Given the description of an element on the screen output the (x, y) to click on. 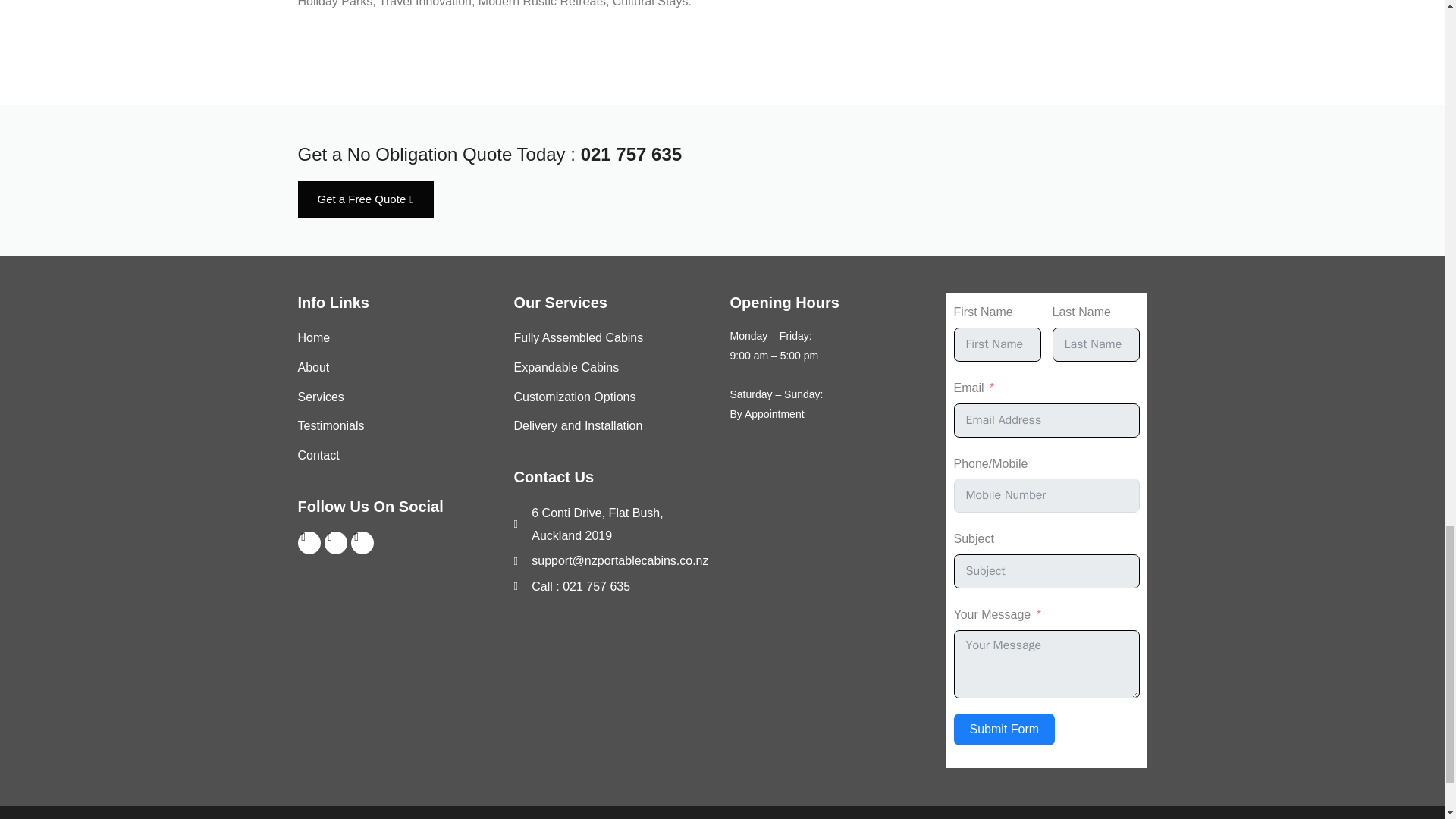
Testimonials (397, 425)
Call : 021 757 635 (613, 586)
Submit Form (1004, 729)
Instagram (361, 542)
Twitter (335, 542)
Home (397, 337)
6 Conti Drive, Flat Bush, Auckland 2019 (613, 524)
Get a No Obligation Quote Today : 021 757 635 (489, 154)
Contact (397, 455)
Our Services (560, 302)
